Given the description of an element on the screen output the (x, y) to click on. 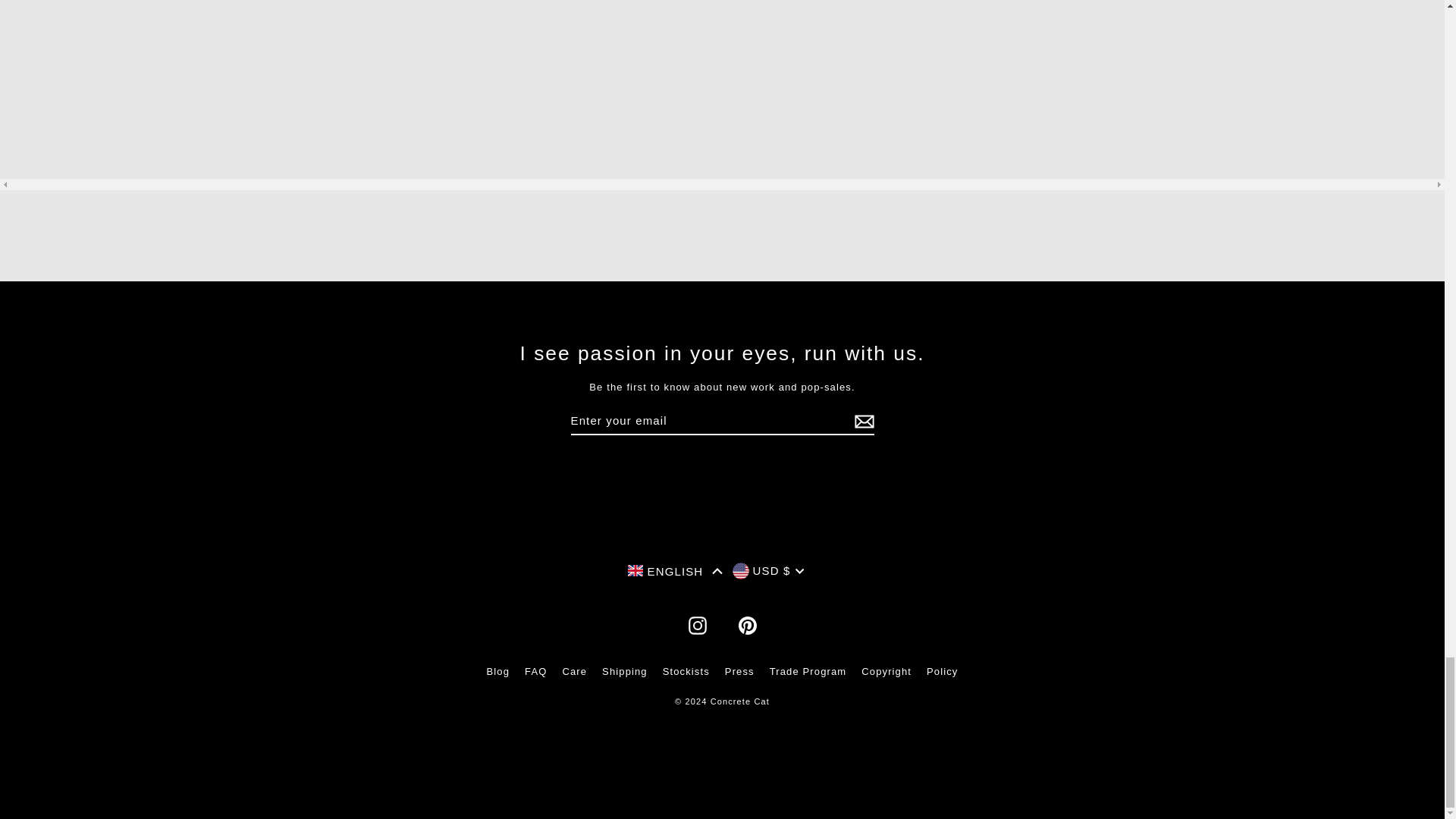
Concrete Cat on Pinterest (747, 625)
Subscribe (860, 420)
Concrete Cat on Instagram (698, 625)
